Given the description of an element on the screen output the (x, y) to click on. 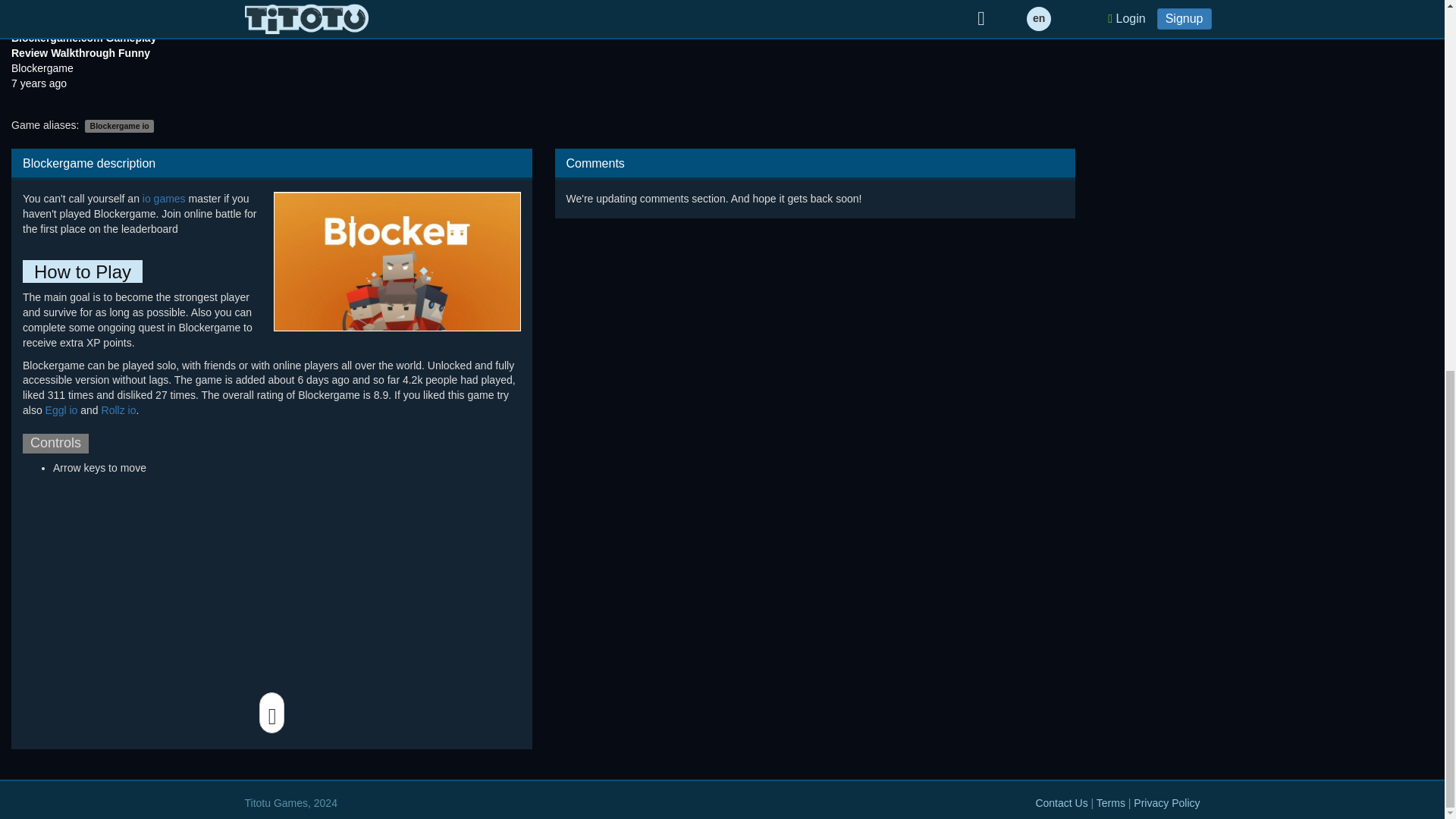
io games (164, 198)
Blockergame (42, 68)
Rollz io (118, 410)
Eggl io (61, 410)
